Given the description of an element on the screen output the (x, y) to click on. 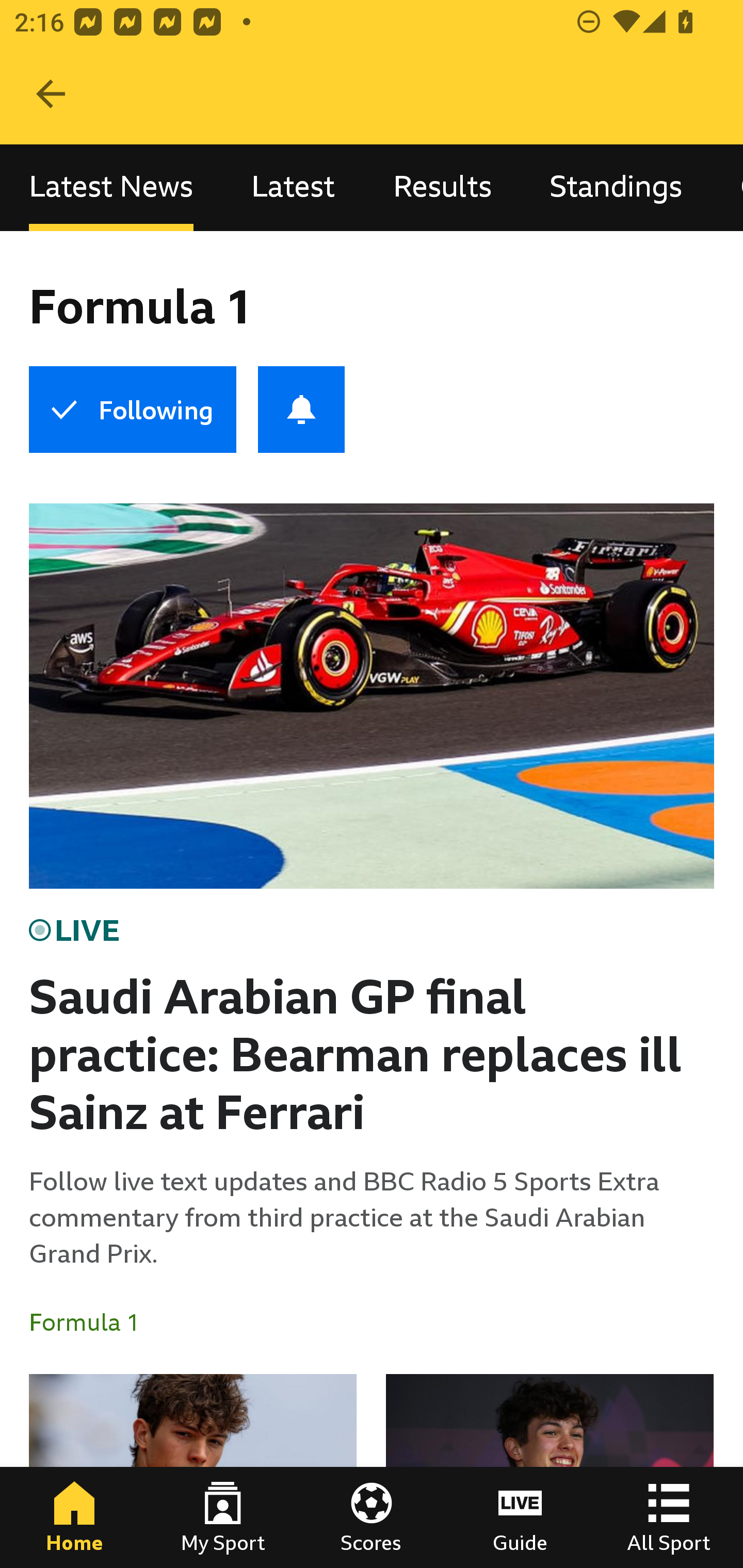
Navigate up (50, 93)
Latest News, selected Latest News (111, 187)
Latest (293, 187)
Results (442, 187)
Standings (615, 187)
Following Formula 1 Following (132, 409)
Push notifications for Formula 1 (300, 409)
My Sport (222, 1517)
Scores (371, 1517)
Guide (519, 1517)
All Sport (668, 1517)
